Given the description of an element on the screen output the (x, y) to click on. 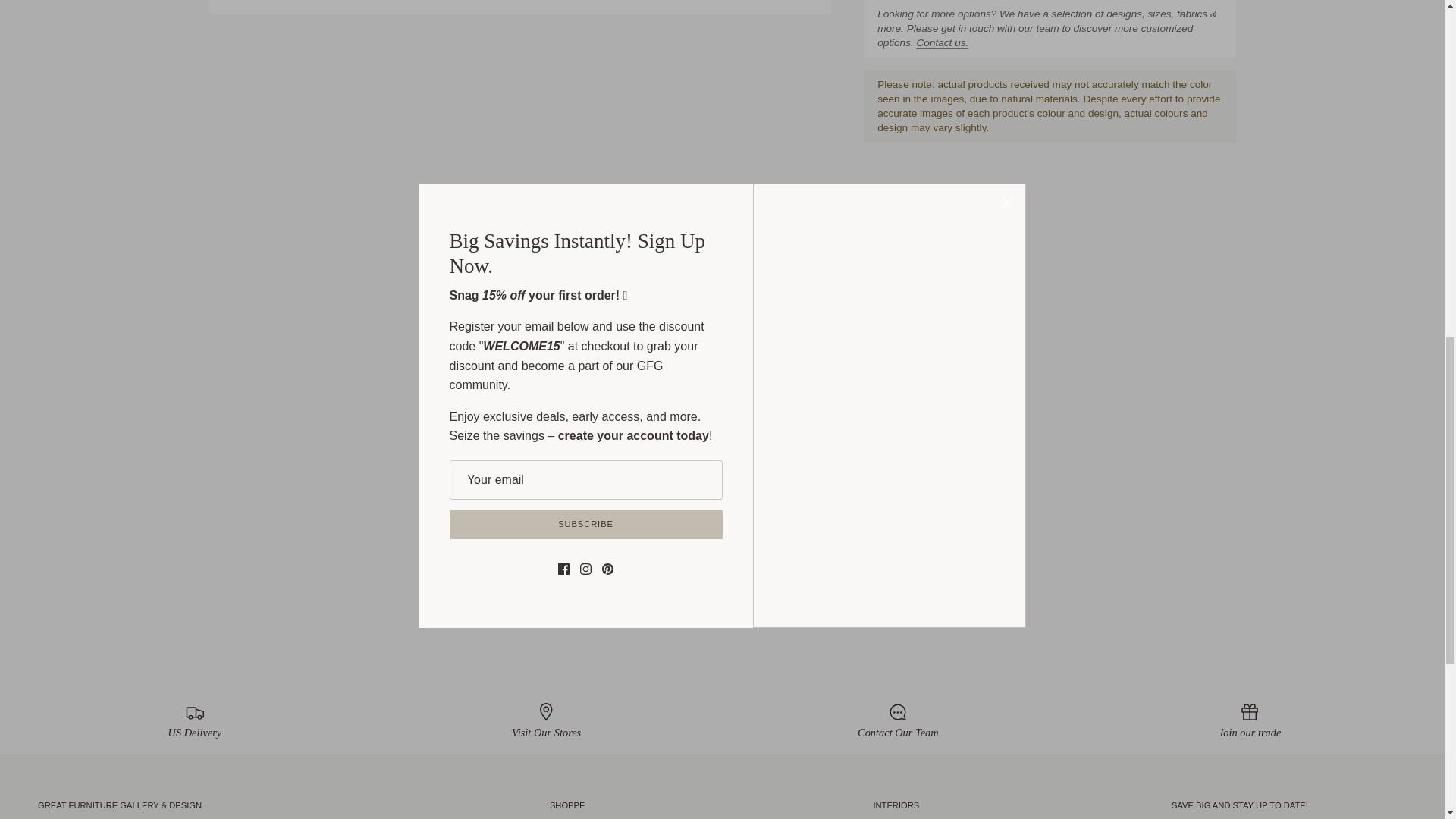
Contact (943, 42)
